Given the description of an element on the screen output the (x, y) to click on. 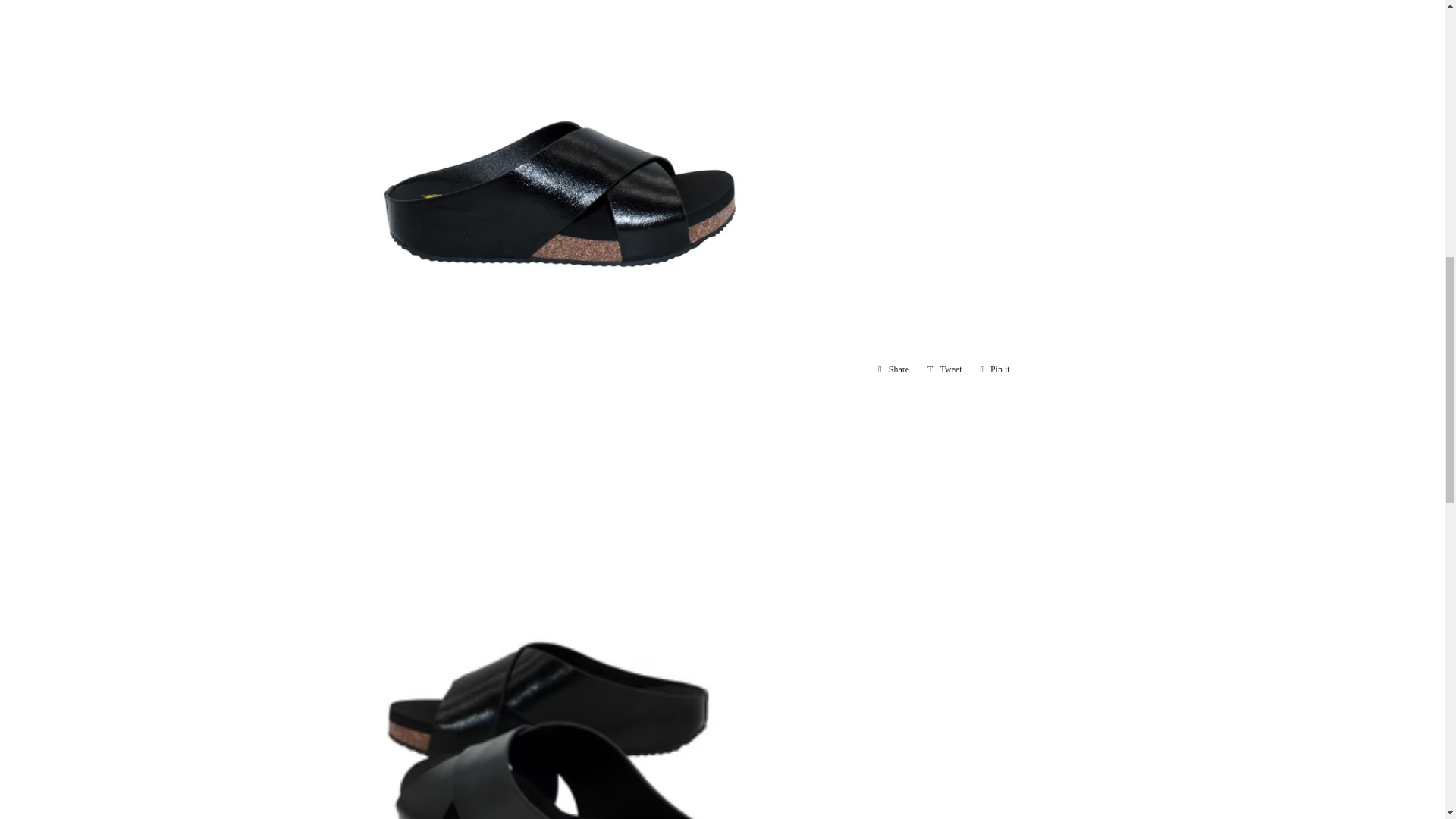
Share on Facebook (893, 369)
Tweet on Twitter (944, 369)
Pin on Pinterest (994, 369)
